Given the description of an element on the screen output the (x, y) to click on. 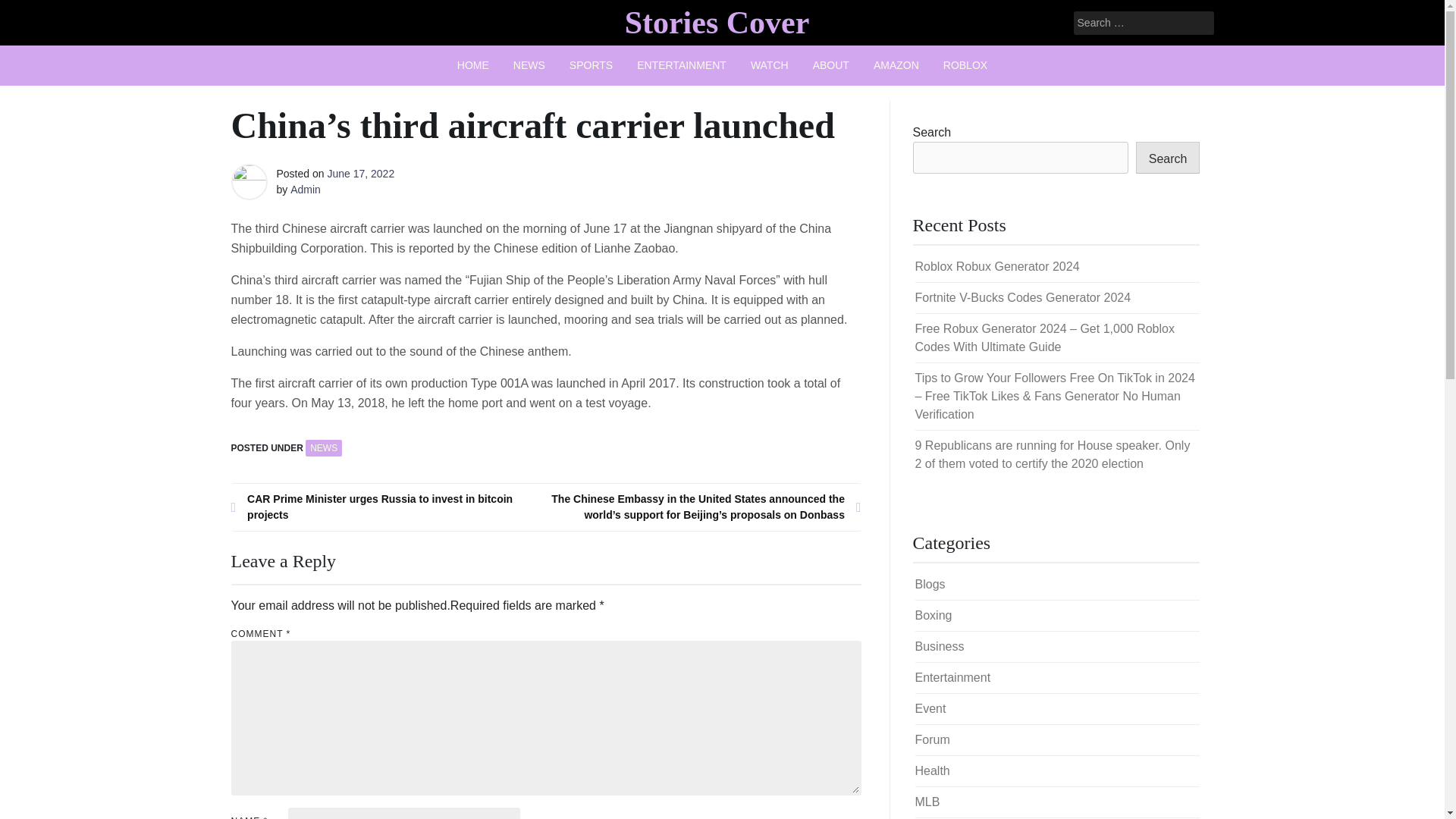
ABOUT (830, 65)
HOME (472, 65)
NEWS (323, 447)
SPORTS (590, 65)
ROBLOX (964, 65)
AMAZON (896, 65)
Stories Cover (716, 22)
Search (32, 12)
ENTERTAINMENT (681, 65)
Admin (304, 189)
WATCH (769, 65)
NEWS (528, 65)
June 17, 2022 (360, 173)
